Given the description of an element on the screen output the (x, y) to click on. 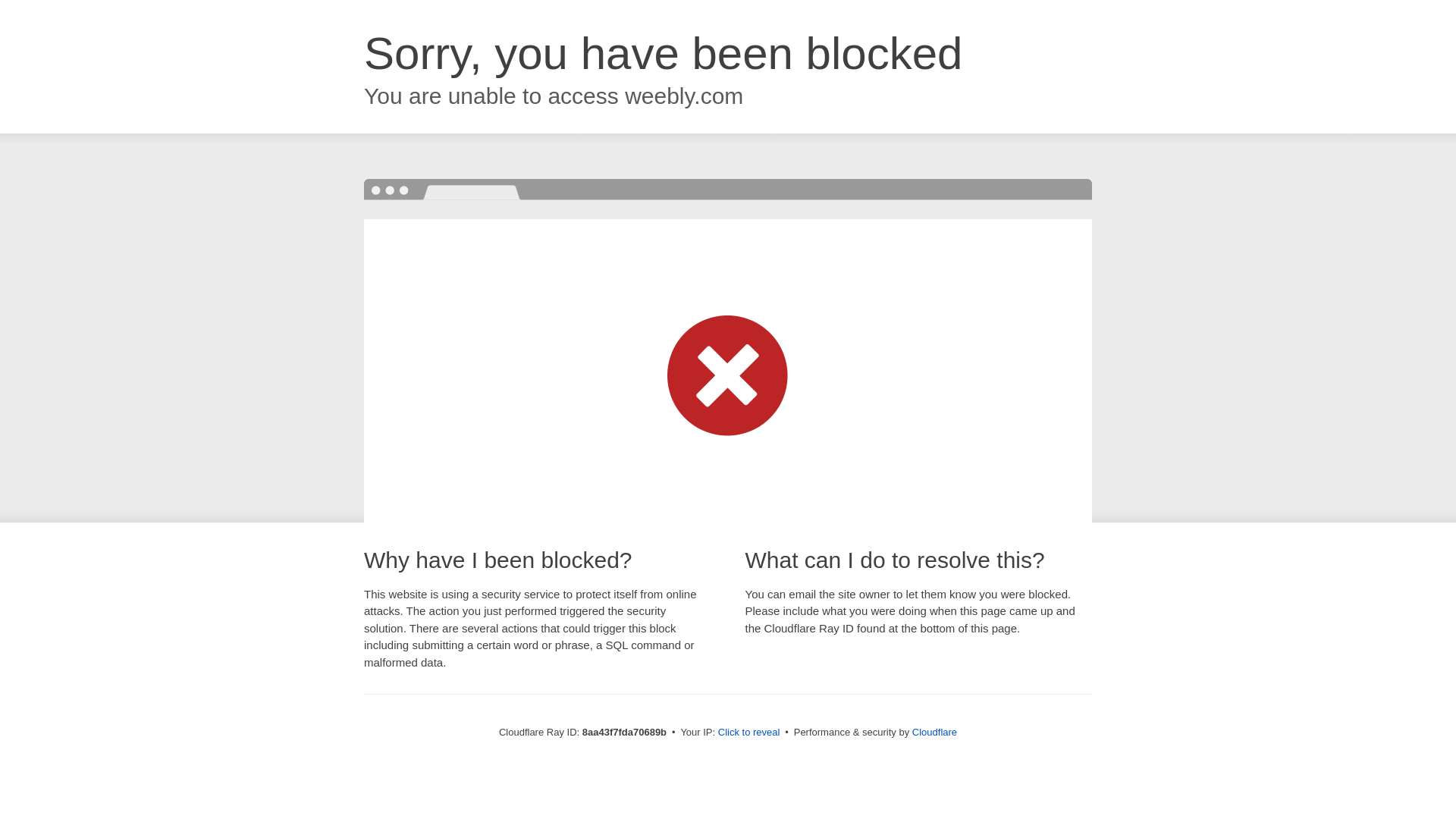
Cloudflare (934, 731)
Click to reveal (748, 732)
